Given the description of an element on the screen output the (x, y) to click on. 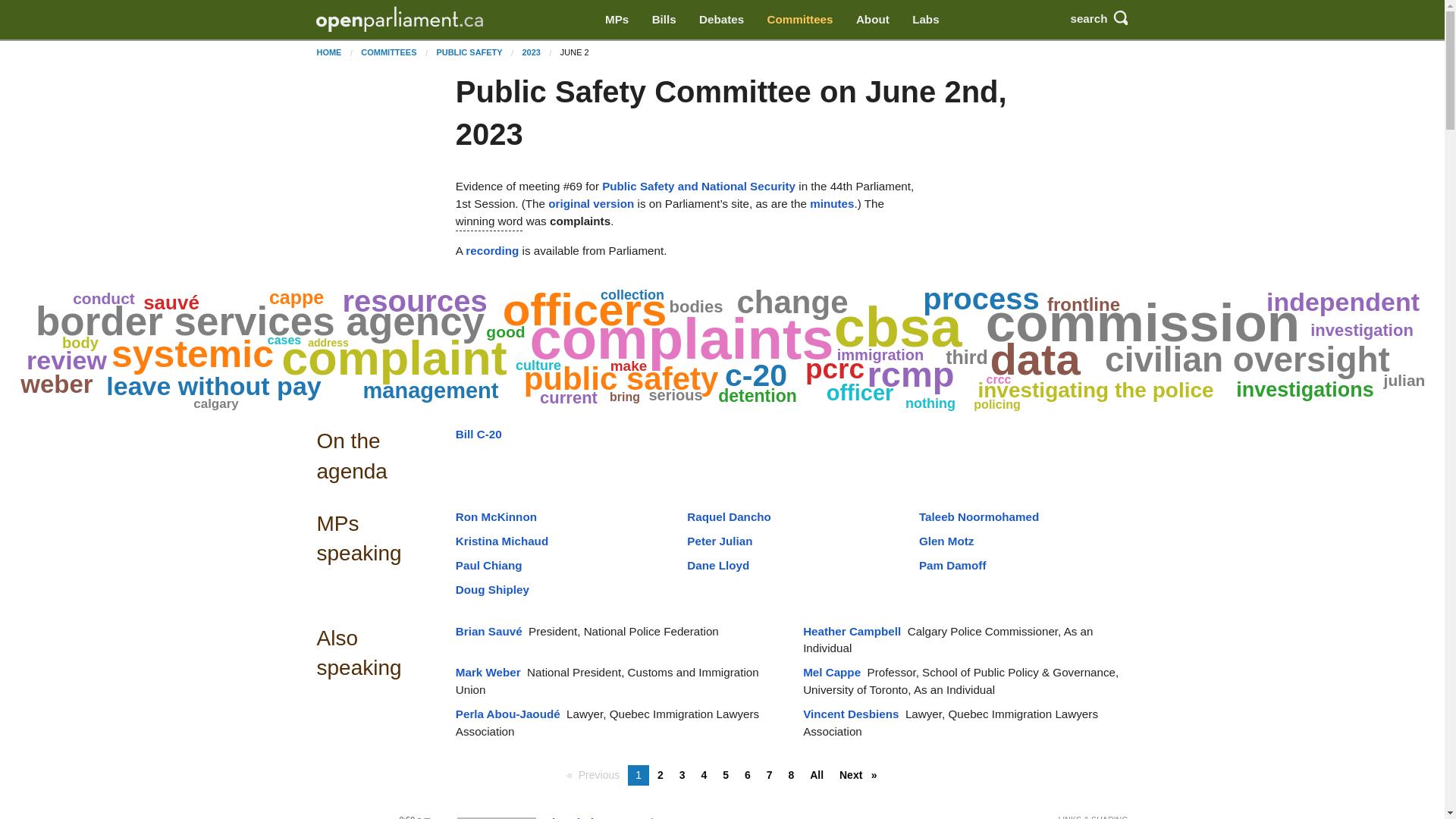
Peter Julian (719, 540)
Mark Weber (488, 671)
Committees (799, 19)
original version (590, 203)
2 (660, 774)
recording (491, 250)
Bills (663, 19)
PUBLIC SAFETY (468, 51)
Public Safety and National Security (698, 185)
About (872, 19)
